Given the description of an element on the screen output the (x, y) to click on. 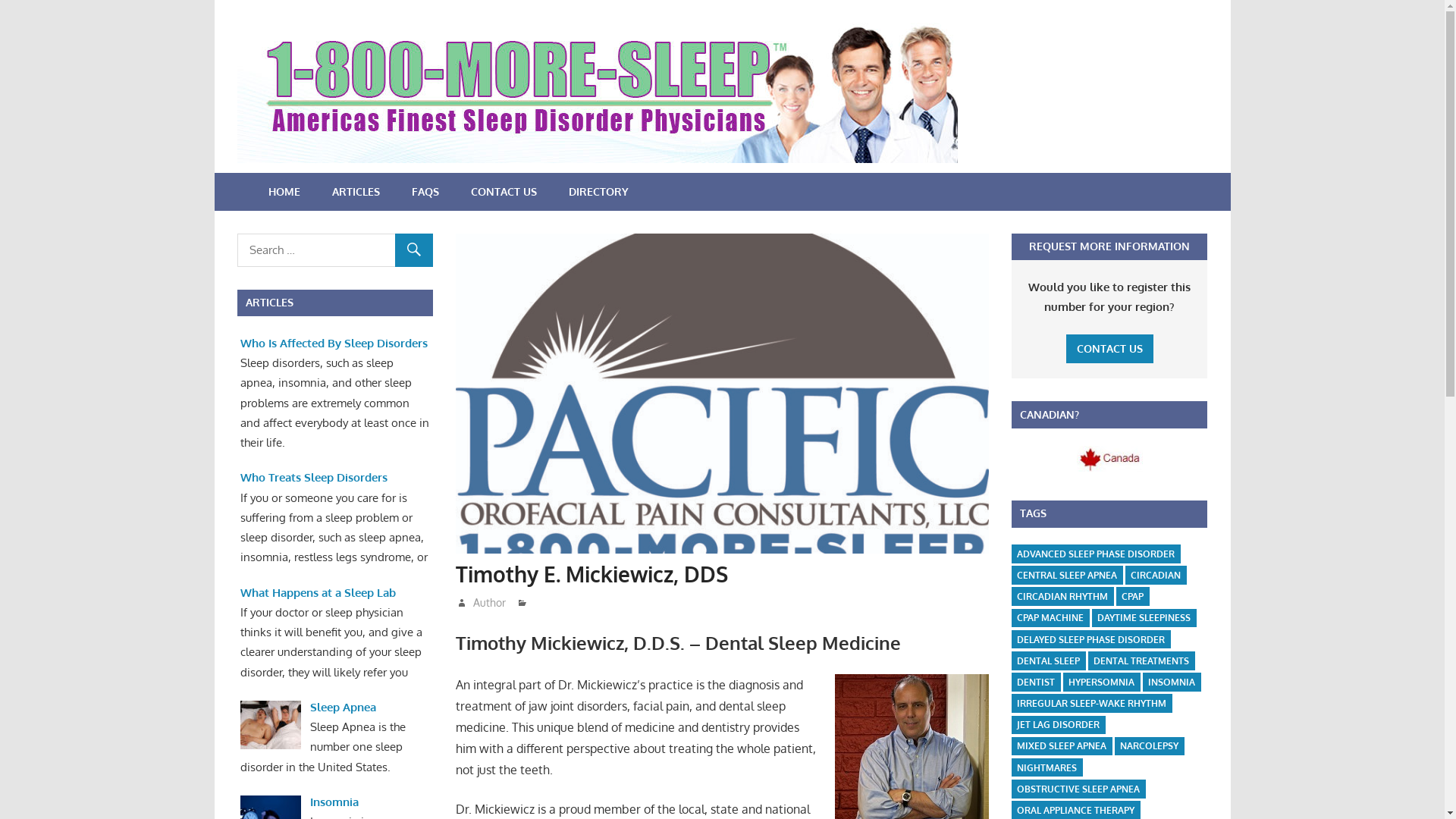
CIRCADIAN RHYTHM Element type: text (1062, 595)
Author Element type: text (489, 602)
OBSTRUCTIVE SLEEP APNEA Element type: text (1078, 788)
DENTIST Element type: text (1035, 681)
NIGHTMARES Element type: text (1046, 767)
CENTRAL SLEEP APNEA Element type: text (1066, 574)
FAQS Element type: text (425, 191)
Who Treats Sleep Disorders Element type: text (313, 477)
DENTAL SLEEP Element type: text (1048, 660)
What Happens at a Sleep Lab Element type: text (317, 592)
HOME Element type: text (283, 191)
DIRECTORY Element type: text (597, 191)
JET LAG DISORDER Element type: text (1057, 724)
DELAYED SLEEP PHASE DISORDER Element type: text (1090, 639)
ARTICLES Element type: text (355, 191)
IRREGULAR SLEEP-WAKE RHYTHM Element type: text (1091, 702)
DAYTIME SLEEPINESS Element type: text (1143, 617)
CONTACT US Element type: text (503, 191)
Who Is Affected By Sleep Disorders Element type: text (333, 342)
Search for: Element type: hover (334, 249)
CIRCADIAN Element type: text (1155, 574)
CPAP Element type: text (1132, 595)
July 27, 2017 Element type: text (498, 602)
CONTACT US Element type: text (1109, 348)
ADVANCED SLEEP PHASE DISORDER Element type: text (1095, 553)
CONTACT US Element type: text (1109, 349)
MIXED SLEEP APNEA Element type: text (1061, 746)
DENTAL TREATMENTS Element type: text (1141, 660)
INSOMNIA Element type: text (1171, 681)
Sleep Apnea Element type: text (343, 706)
Insomnia Element type: text (334, 801)
CPAP MACHINE Element type: text (1049, 617)
HYPERSOMNIA Element type: text (1101, 681)
NARCOLEPSY Element type: text (1148, 746)
